Given the description of an element on the screen output the (x, y) to click on. 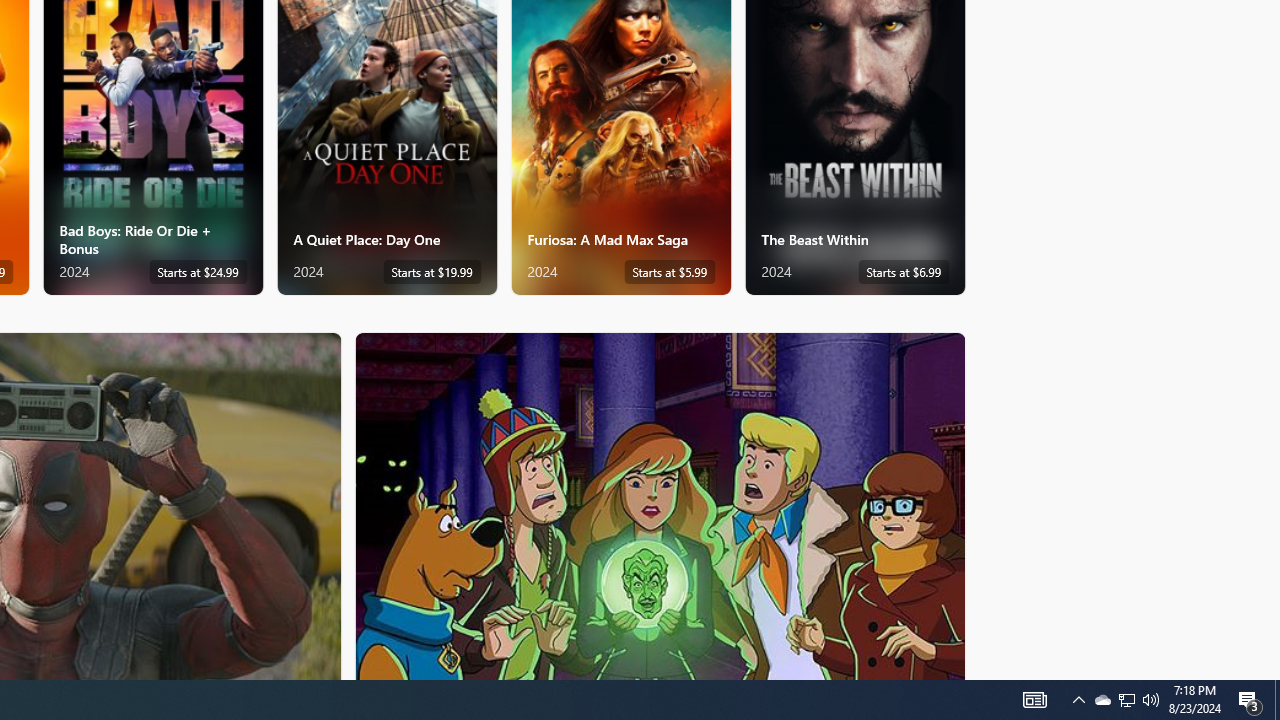
AutomationID: PosterImage (658, 505)
Family (660, 505)
